Given the description of an element on the screen output the (x, y) to click on. 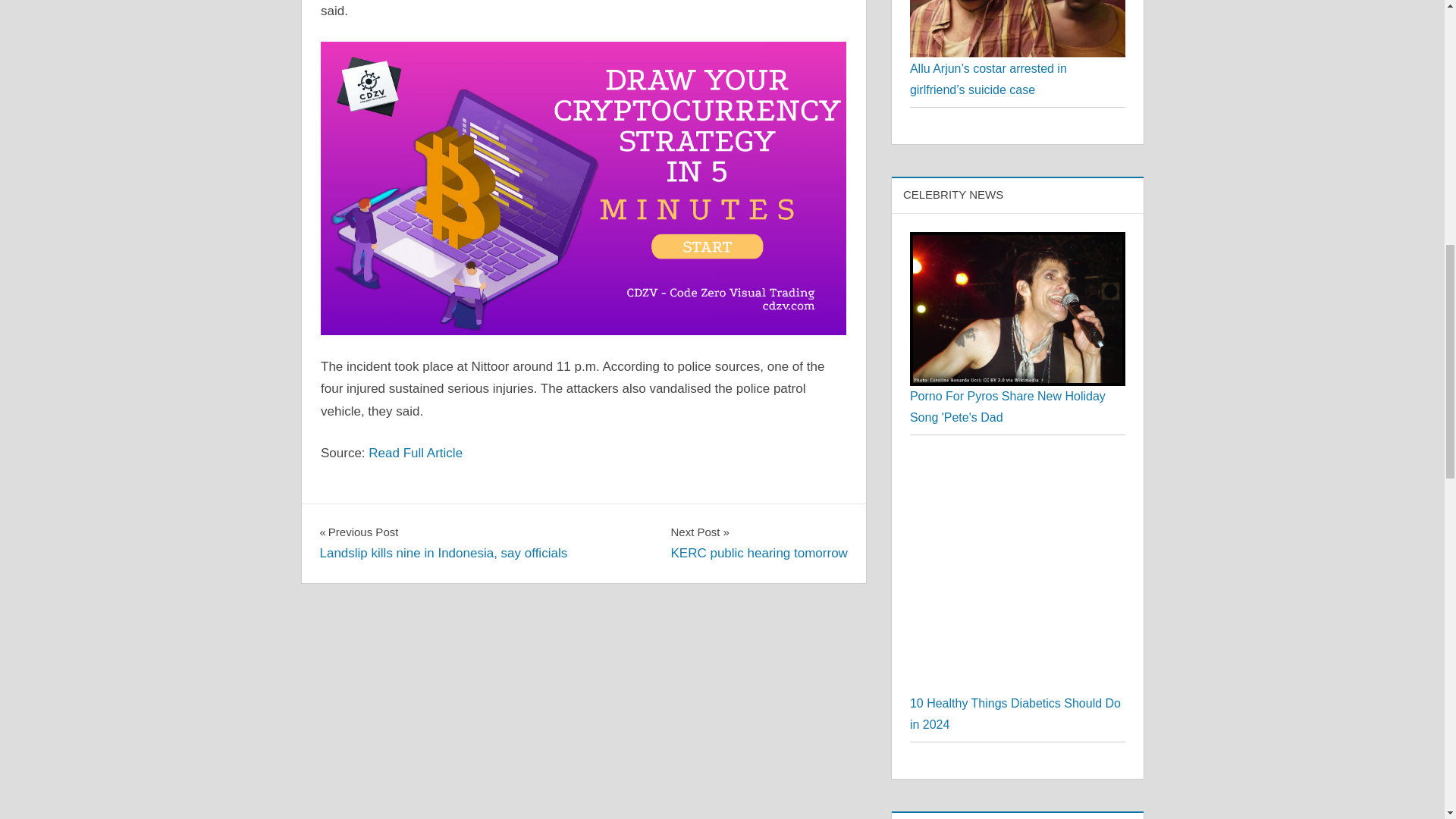
Porno For Pyros Share New Holiday Song 'Pete's Dad (1017, 241)
INDIA (343, 519)
10 Healthy Things Diabetics Should Do in 2024 (1015, 713)
10 Healthy Things Diabetics Should Do in 2024 (1017, 572)
10 Healthy Things Diabetics Should Do in 2024 (1017, 463)
Porno For Pyros Share New Holiday Song 'Pete's Dad (1007, 406)
Porno For Pyros Share New Holiday Song 'Pete's Dad (758, 542)
Read Full Article (1017, 308)
